Given the description of an element on the screen output the (x, y) to click on. 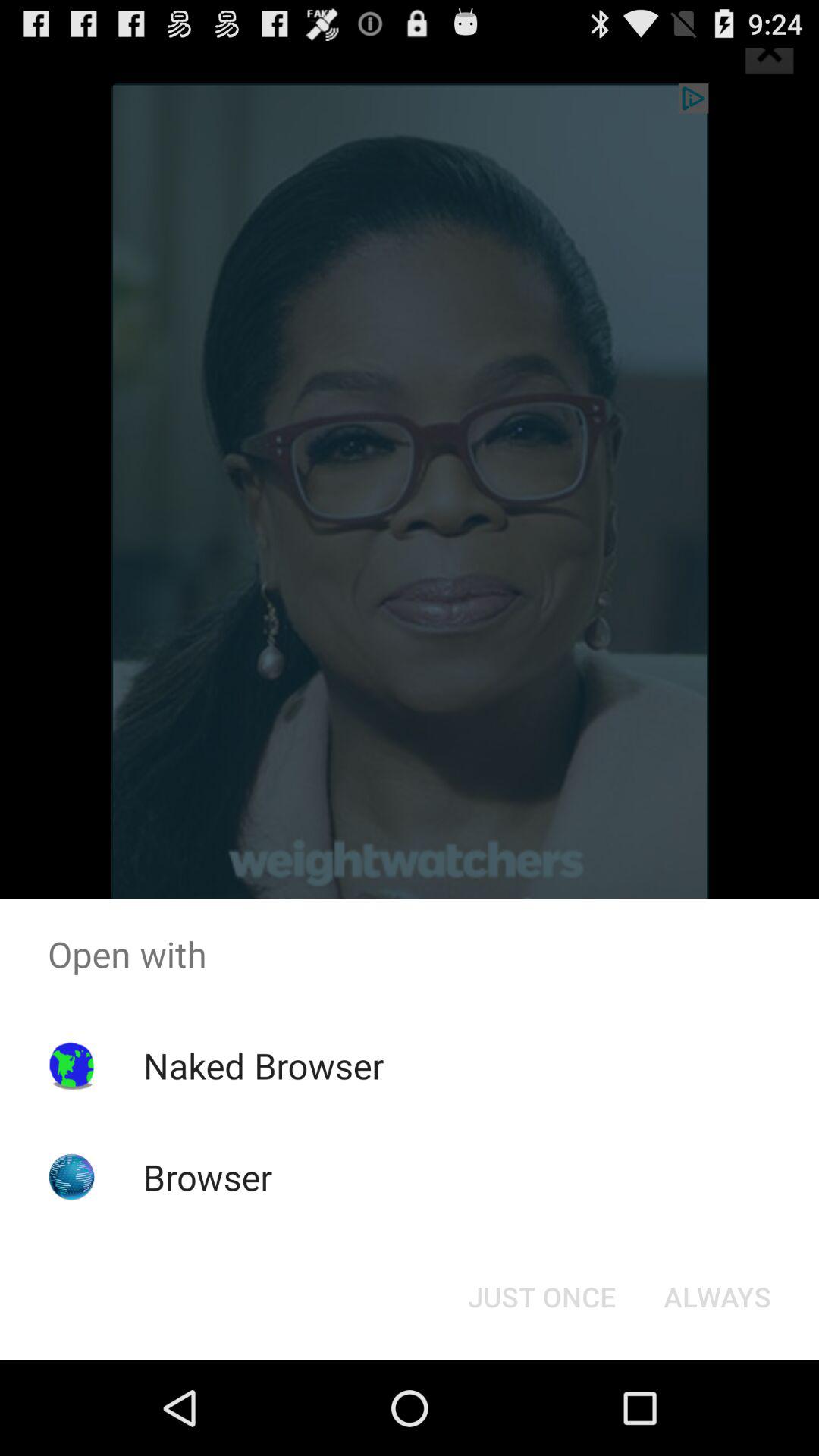
launch the icon below open with item (541, 1296)
